Given the description of an element on the screen output the (x, y) to click on. 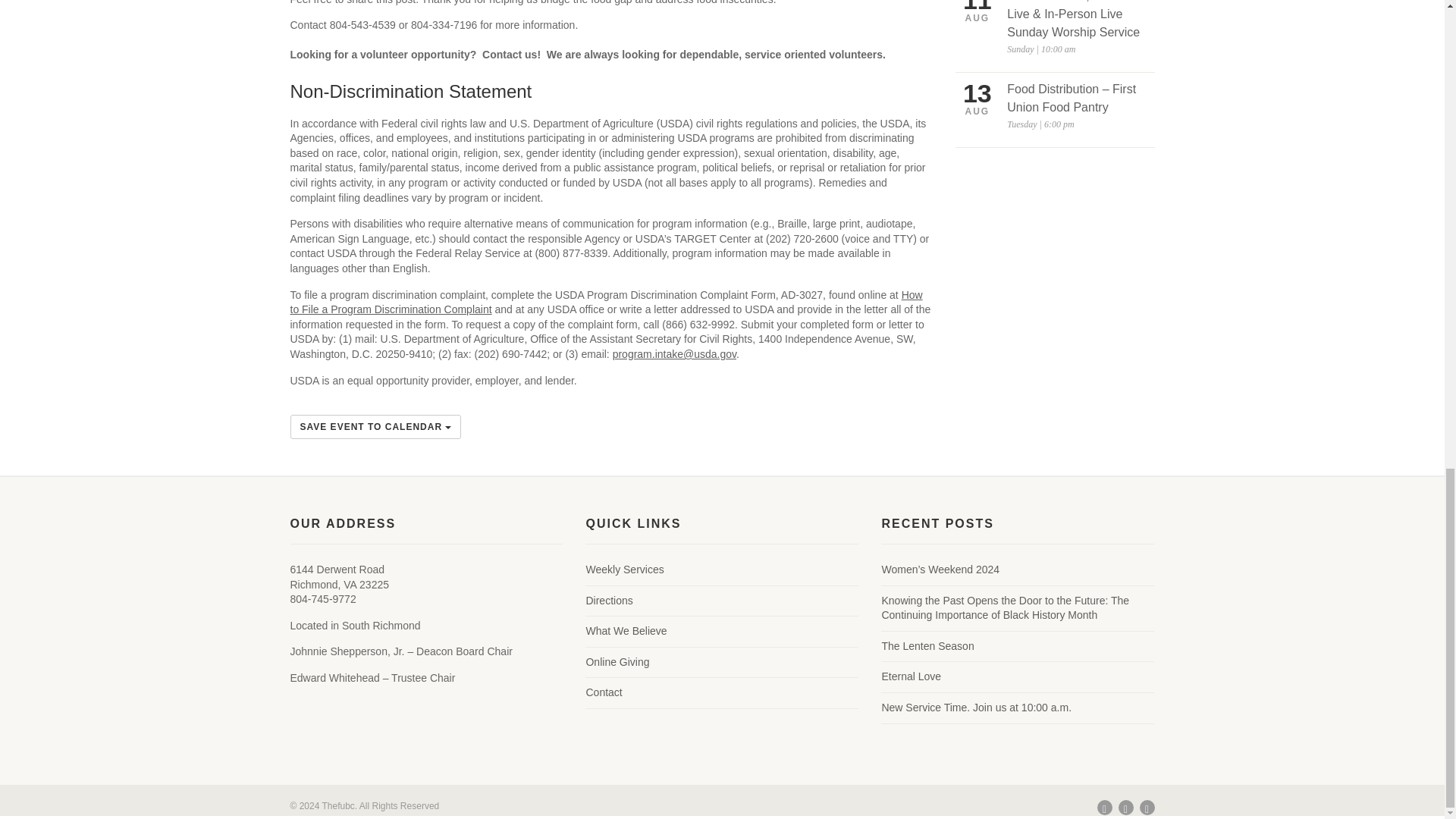
How to File a Program Discrimination Complaint (605, 302)
